Given the description of an element on the screen output the (x, y) to click on. 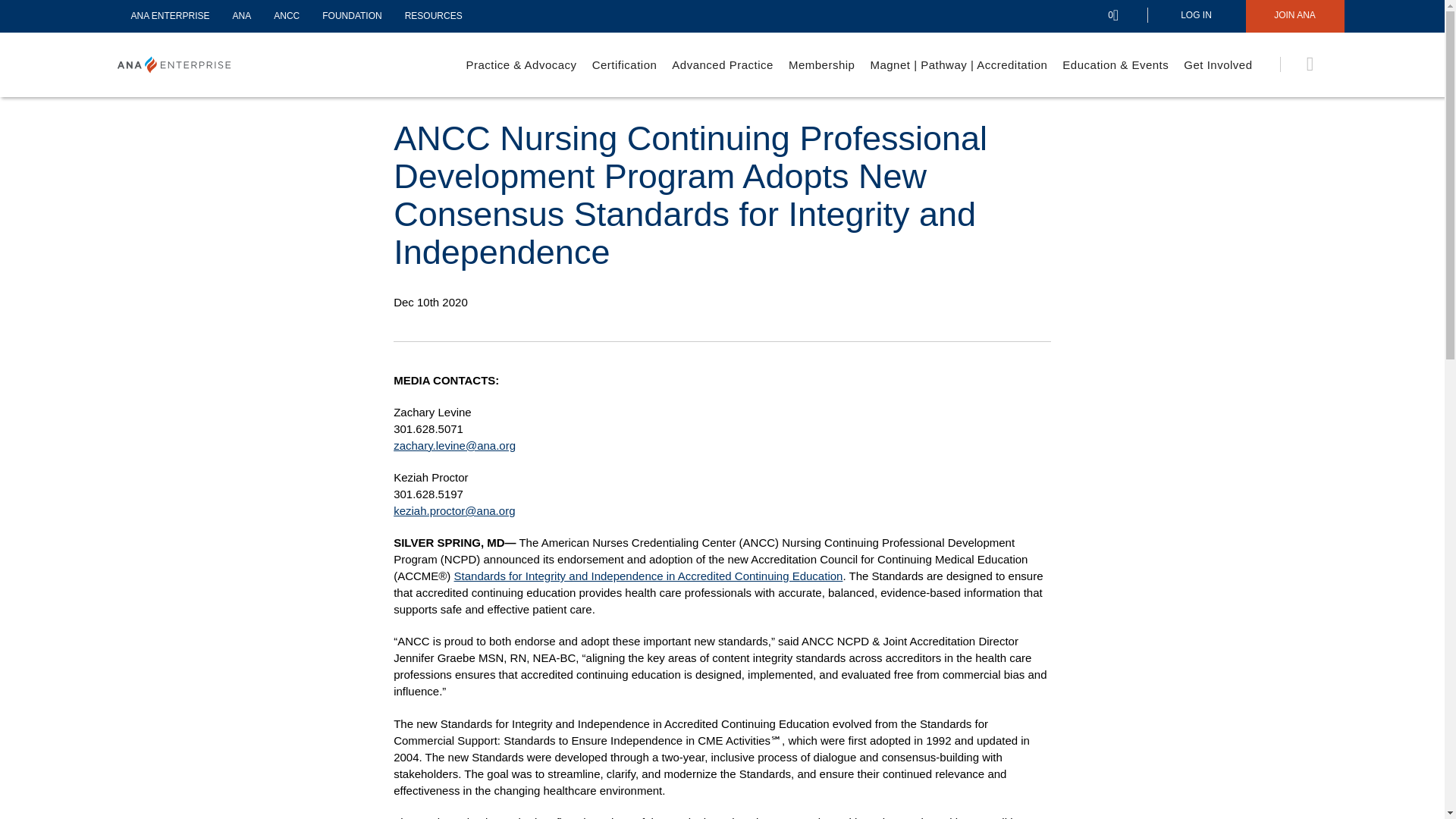
Foundation (351, 15)
Resources (433, 15)
ANA Enterprise (170, 15)
FOUNDATION (351, 15)
ANA ENTERPRISE (170, 15)
Join ANA (1293, 16)
Log in (1195, 16)
RESOURCES (433, 15)
0 (1126, 15)
